Given the description of an element on the screen output the (x, y) to click on. 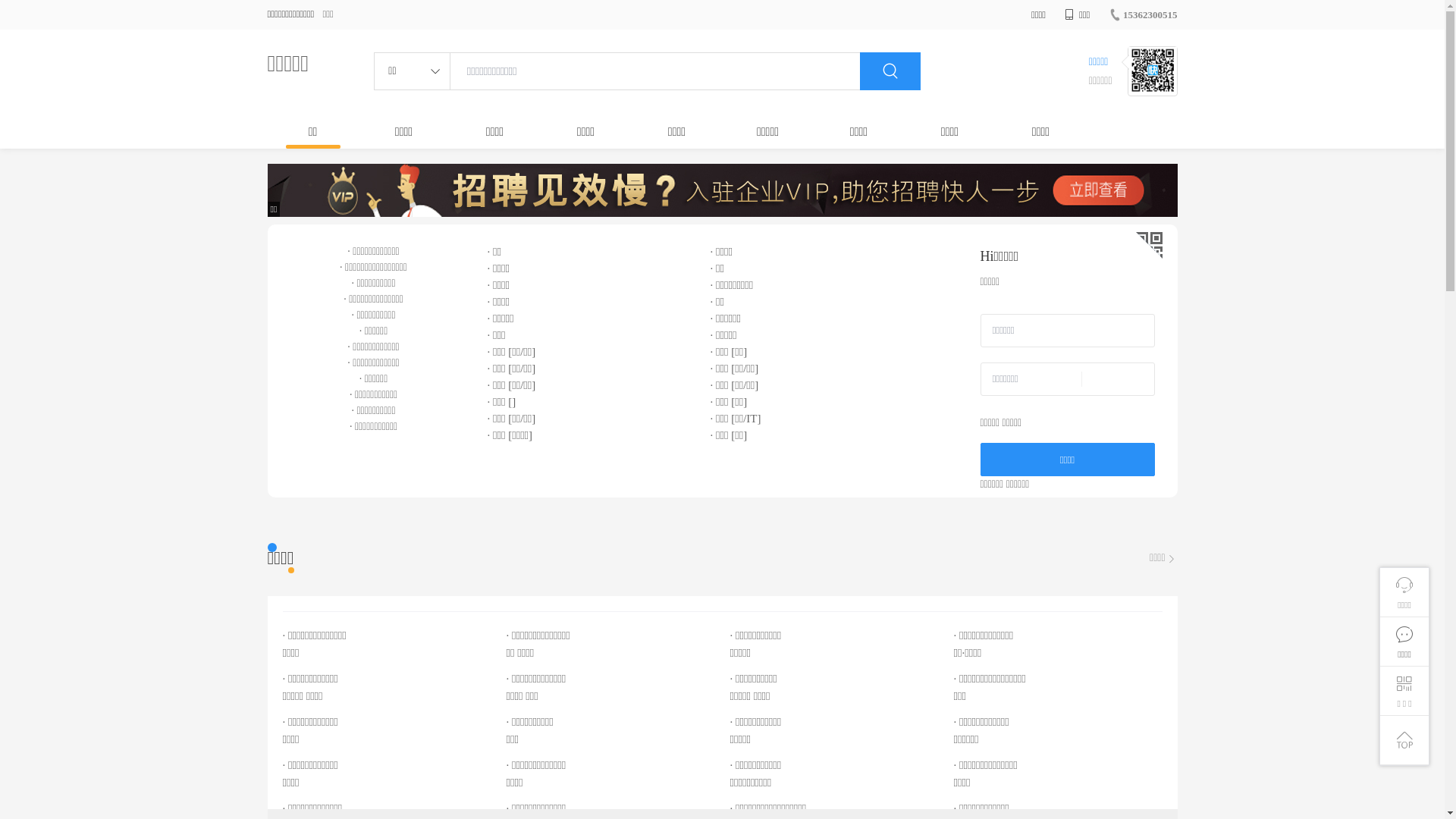
15362300515 Element type: text (1142, 14)
